Given the description of an element on the screen output the (x, y) to click on. 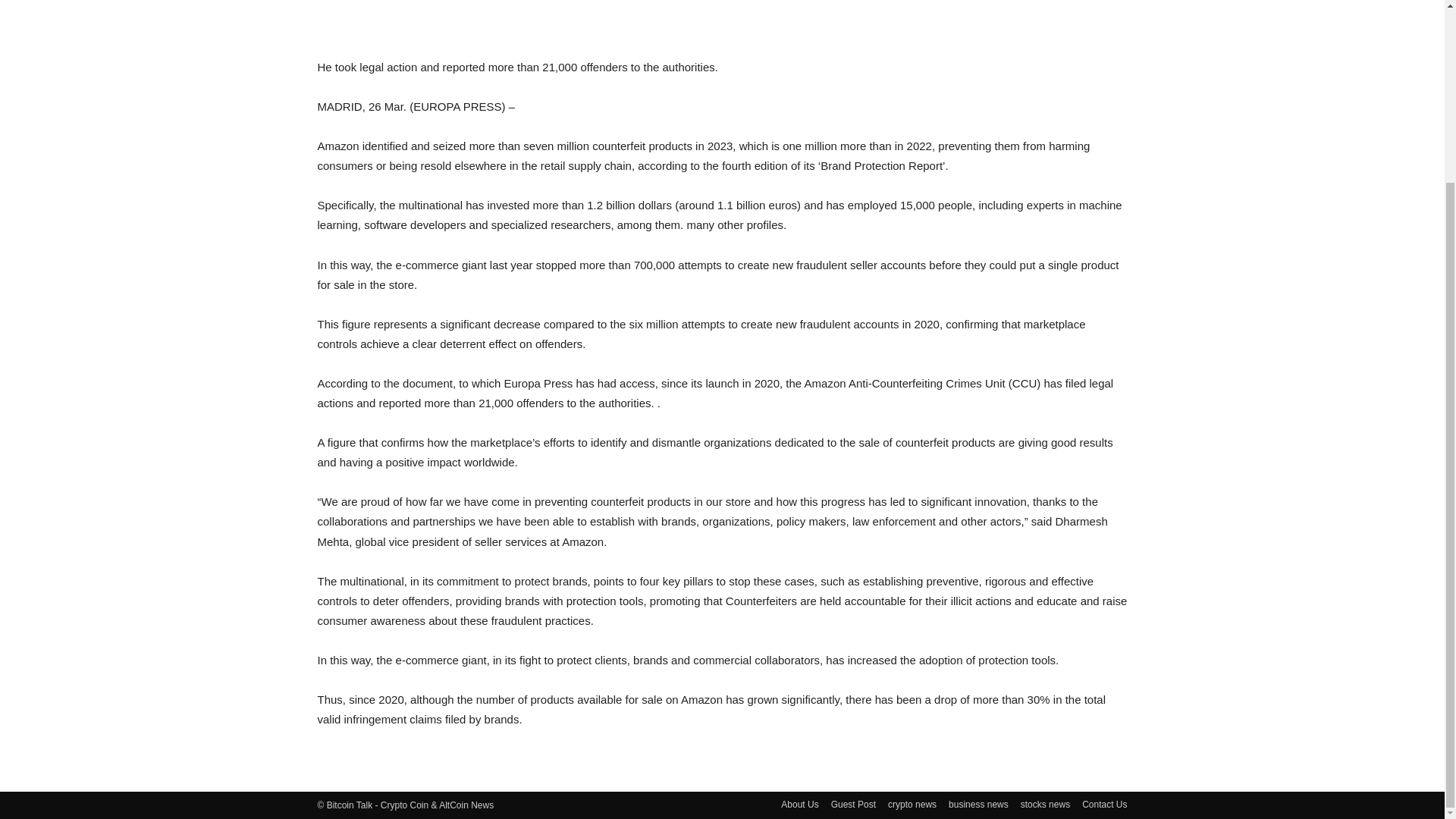
Guest Post (853, 804)
About Us (799, 804)
stocks news (1045, 804)
crypto news (912, 804)
business news (979, 804)
Contact Us (1103, 804)
